Given the description of an element on the screen output the (x, y) to click on. 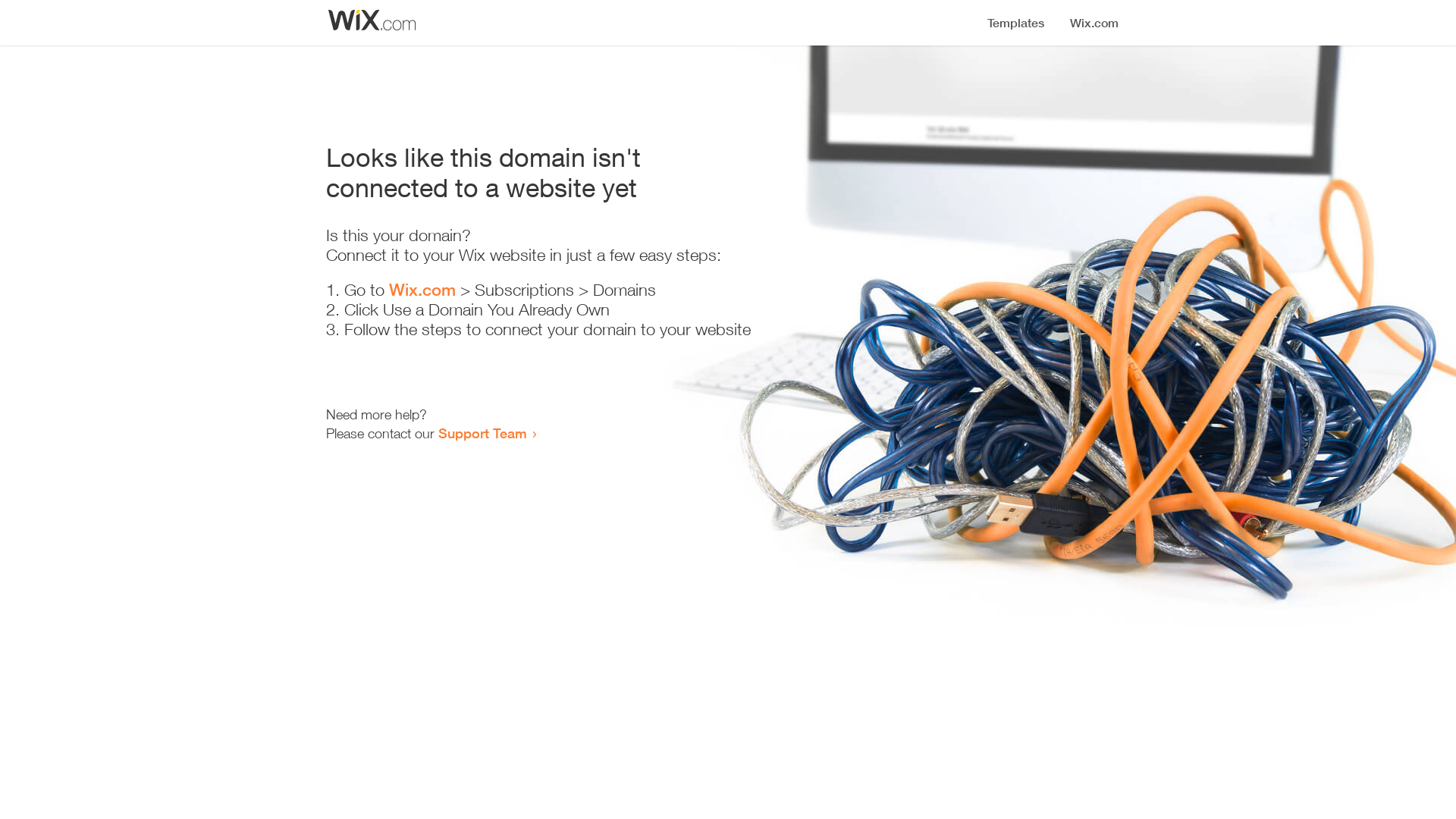
Support Team Element type: text (482, 432)
Wix.com Element type: text (422, 289)
